Given the description of an element on the screen output the (x, y) to click on. 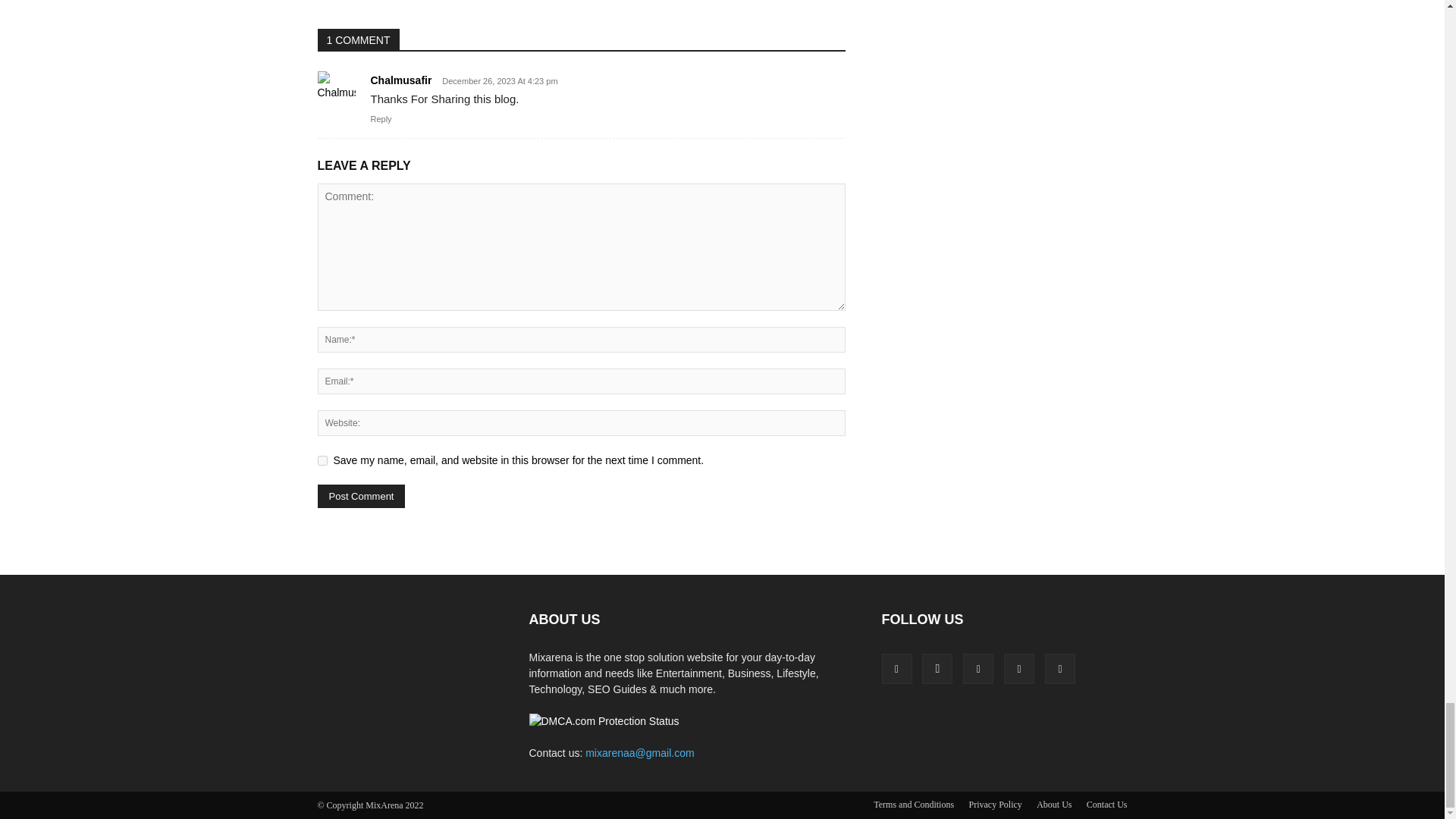
yes (321, 460)
Post Comment (360, 495)
